Given the description of an element on the screen output the (x, y) to click on. 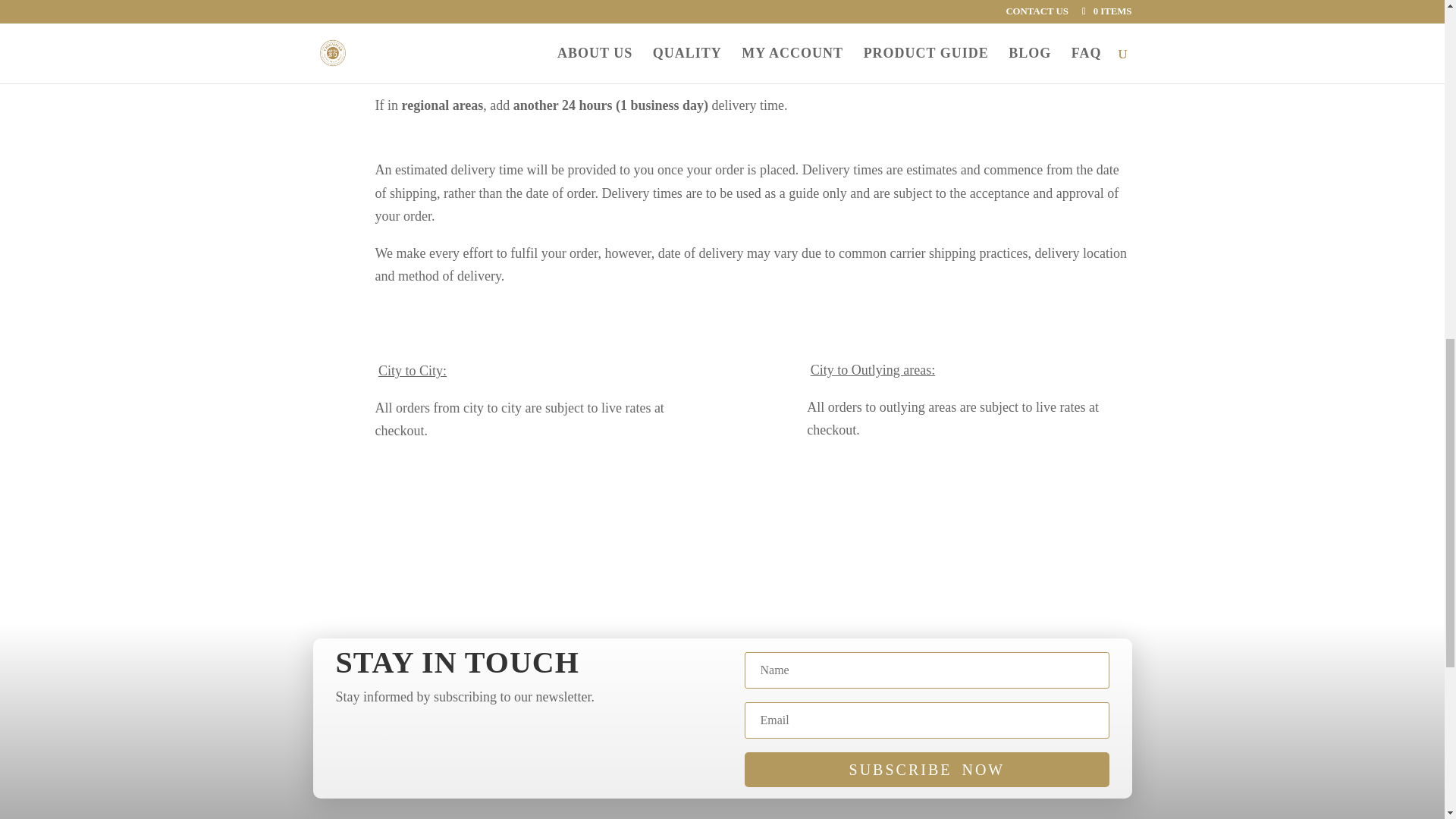
SUBSCRIBE NOW (926, 769)
